Given the description of an element on the screen output the (x, y) to click on. 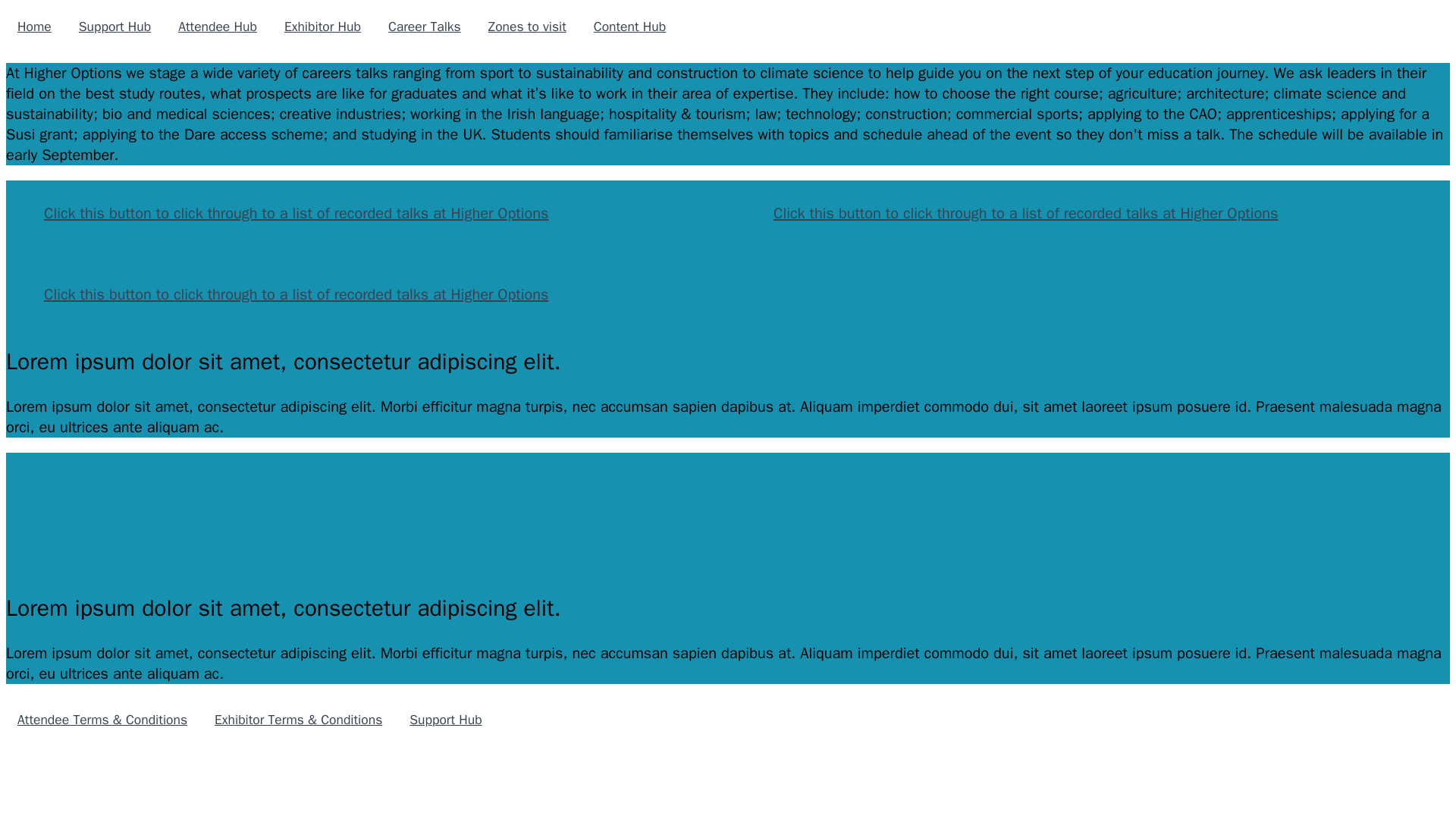
Career Talks (424, 26)
Attendee Hub (217, 26)
Exhibitor Hub (322, 26)
Zones to visit (527, 26)
Content Hub (629, 26)
Support Hub (113, 26)
Home (33, 26)
